Given the description of an element on the screen output the (x, y) to click on. 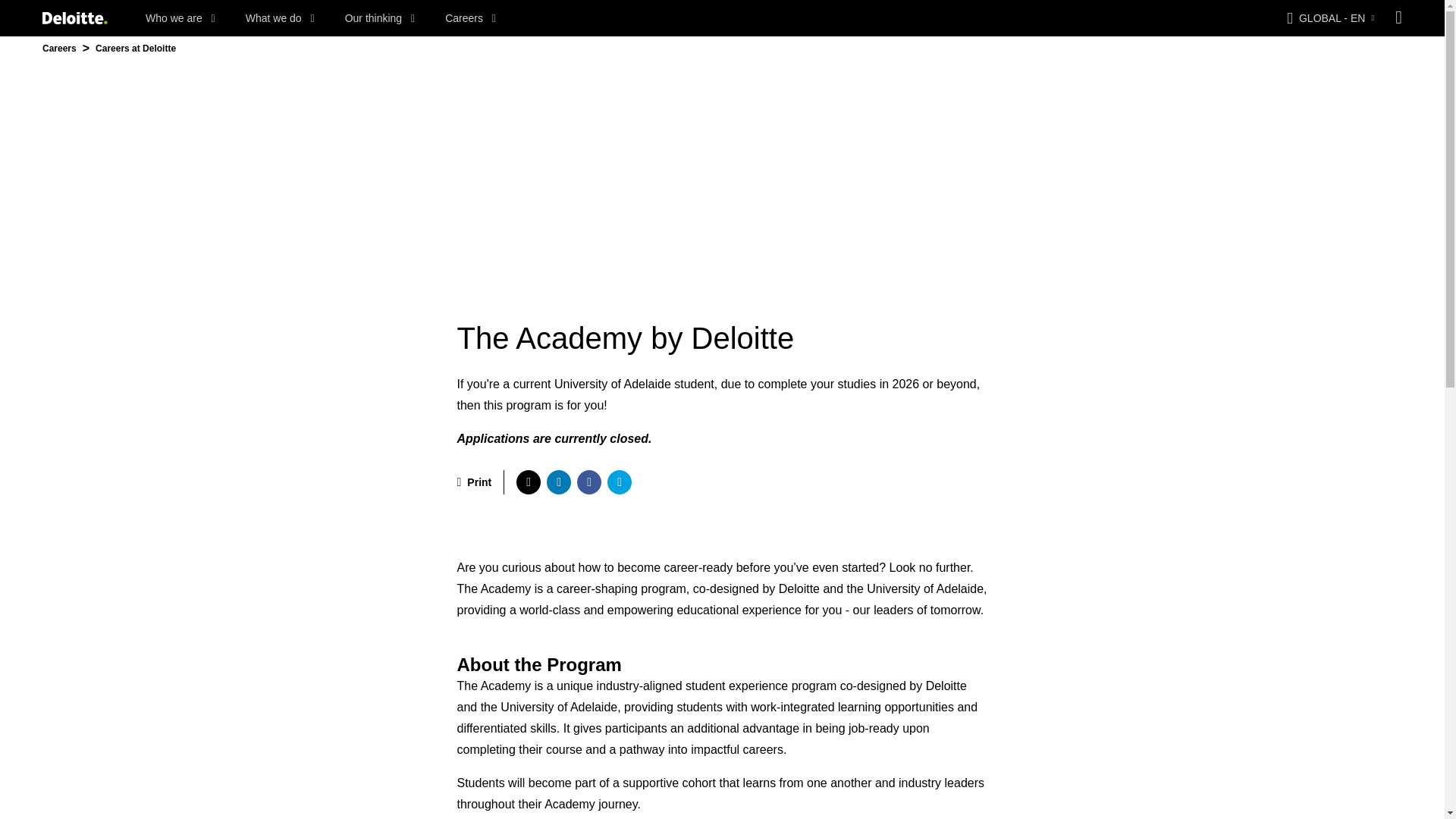
share via email (619, 482)
share via facebook (588, 482)
Who we are (180, 18)
share via twitter (528, 482)
What we do (280, 18)
Careers (470, 18)
Deloitte (74, 18)
Print (474, 482)
Our thinking (379, 18)
share via linkedin (558, 482)
